Given the description of an element on the screen output the (x, y) to click on. 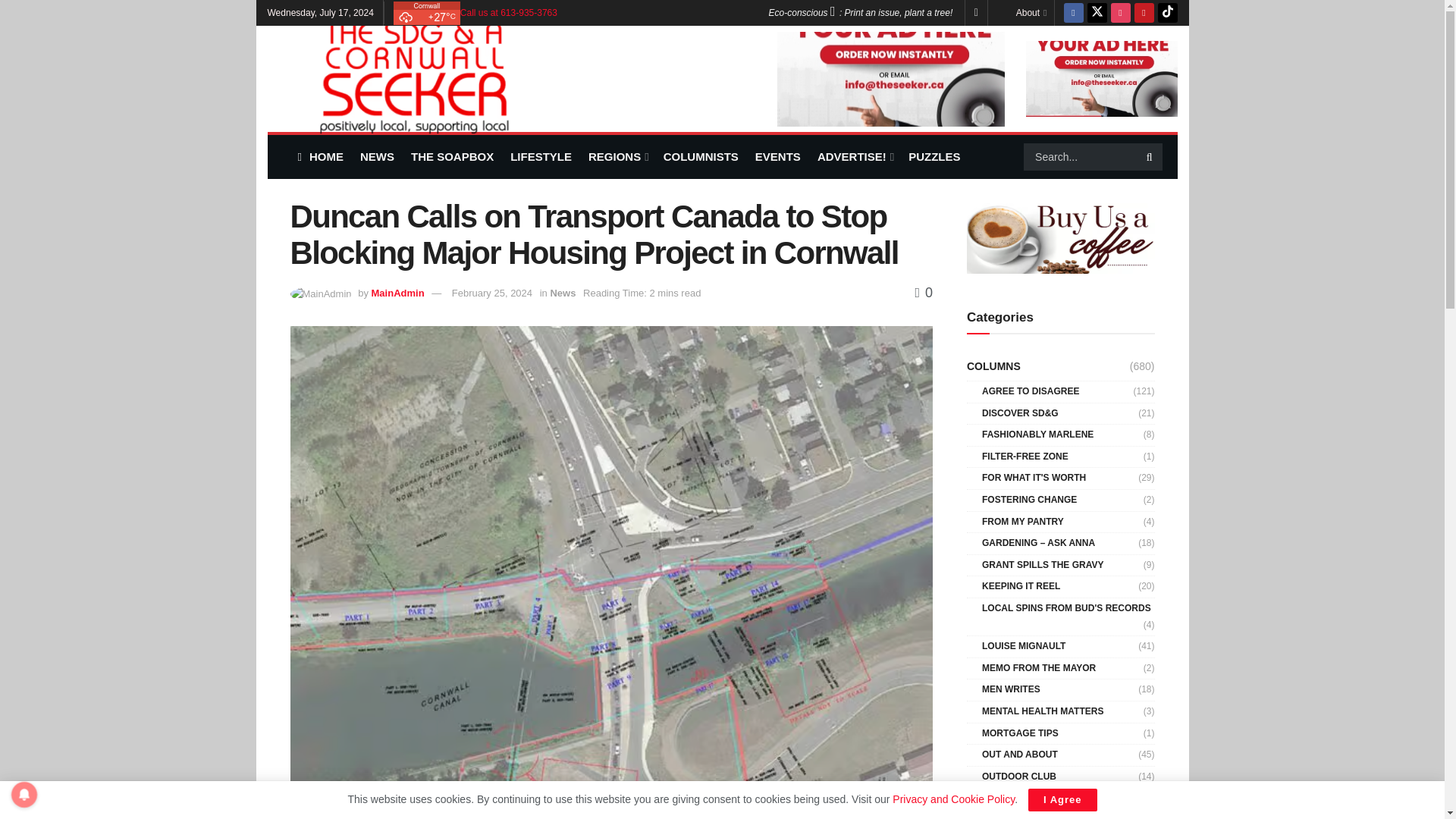
Call us at 613-935-3763 (508, 12)
About (1030, 12)
LIFESTYLE (541, 156)
REGIONS (617, 156)
ADVERTISE! (853, 156)
HOME (319, 156)
NEWS (376, 156)
EVENTS (777, 156)
PUZZLES (933, 156)
THE SOAPBOX (451, 156)
COLUMNISTS (700, 156)
